Given the description of an element on the screen output the (x, y) to click on. 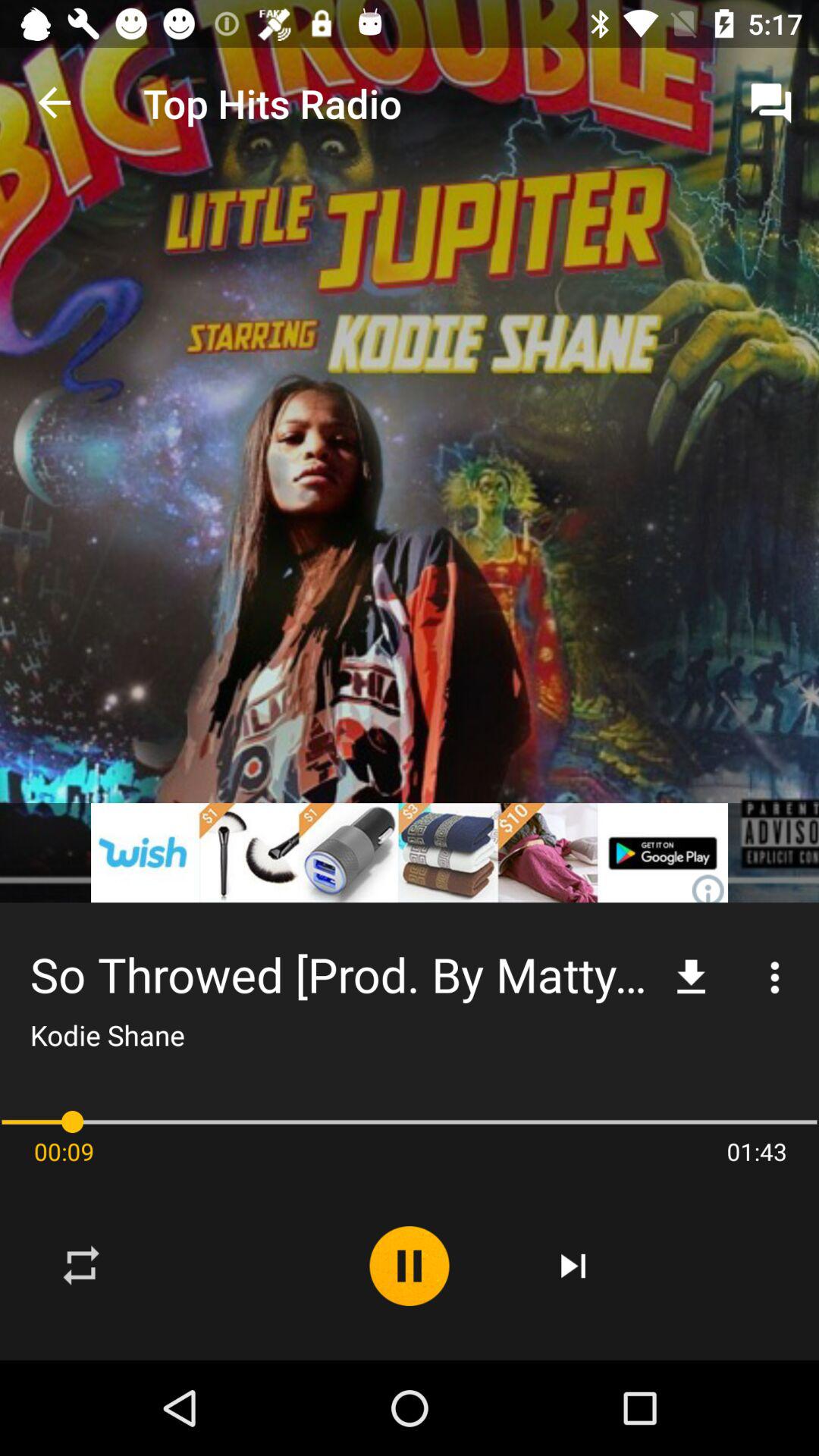
turn off the item below the so throwed prod icon (409, 1265)
